Given the description of an element on the screen output the (x, y) to click on. 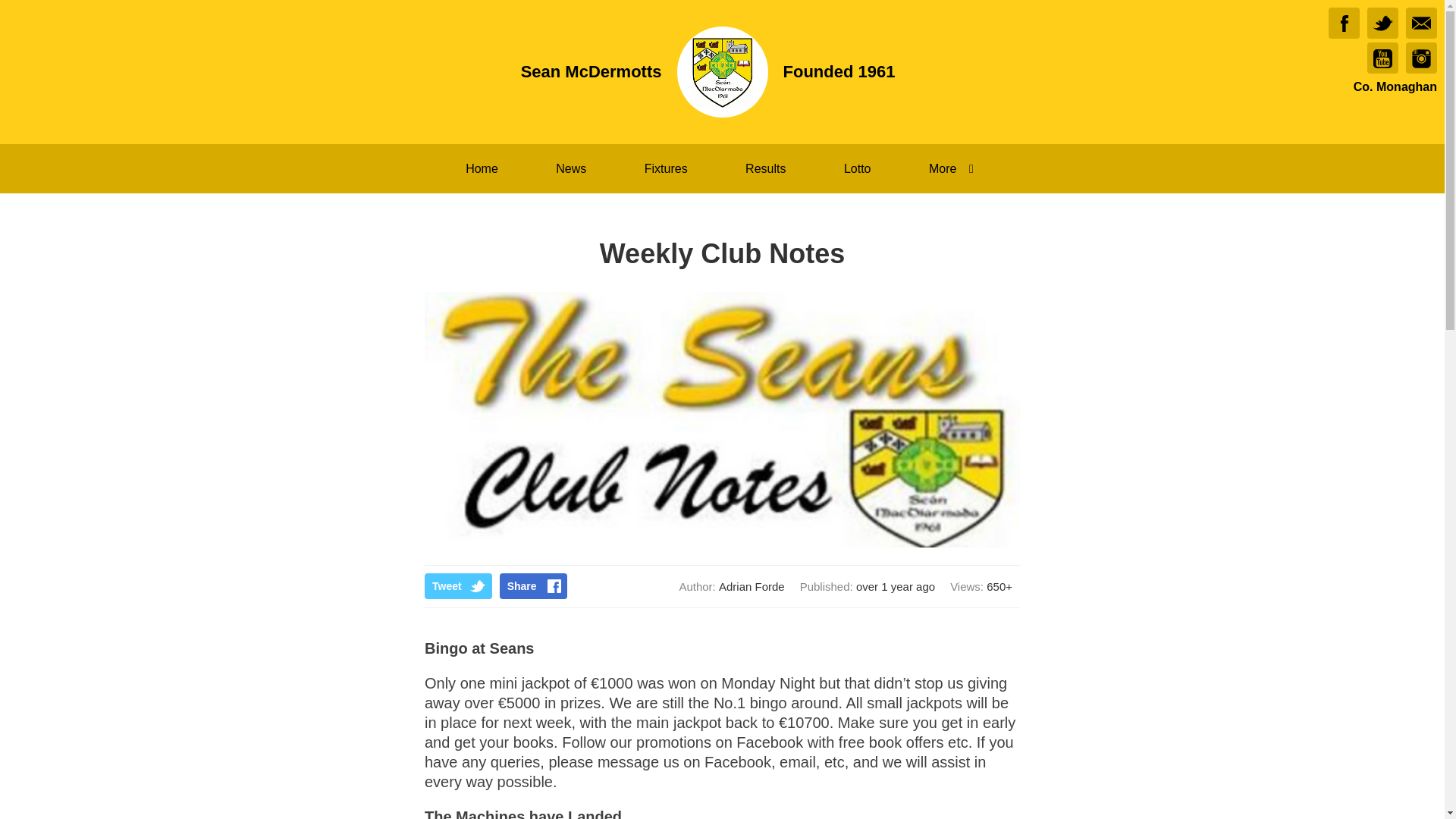
Twitter (1382, 22)
News (570, 168)
Fixtures (665, 168)
Lotto (857, 168)
Home (481, 168)
Email (1421, 22)
Results (765, 168)
Facebook (1343, 22)
YouTube (1382, 57)
More (953, 168)
Instagram (1421, 57)
